Given the description of an element on the screen output the (x, y) to click on. 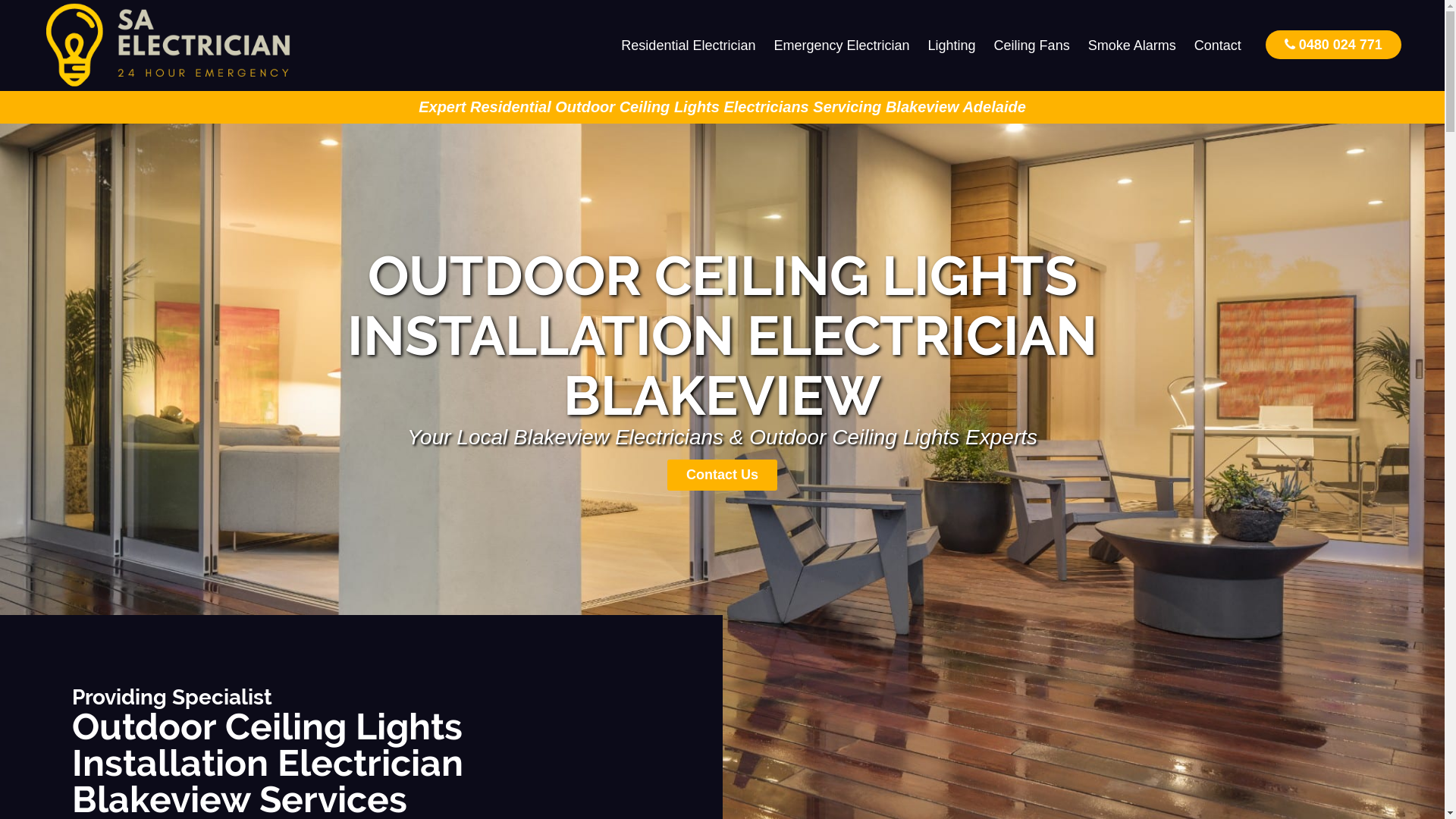
Smoke Alarms Element type: text (1132, 45)
Contact Element type: text (1217, 45)
Emergency Electrician Element type: text (841, 45)
Ceiling Fans Element type: text (1032, 45)
0480 024 771 Element type: text (1333, 44)
Residential Electrician Element type: text (687, 45)
Contact Us Element type: text (722, 474)
Lighting Element type: text (952, 45)
